Given the description of an element on the screen output the (x, y) to click on. 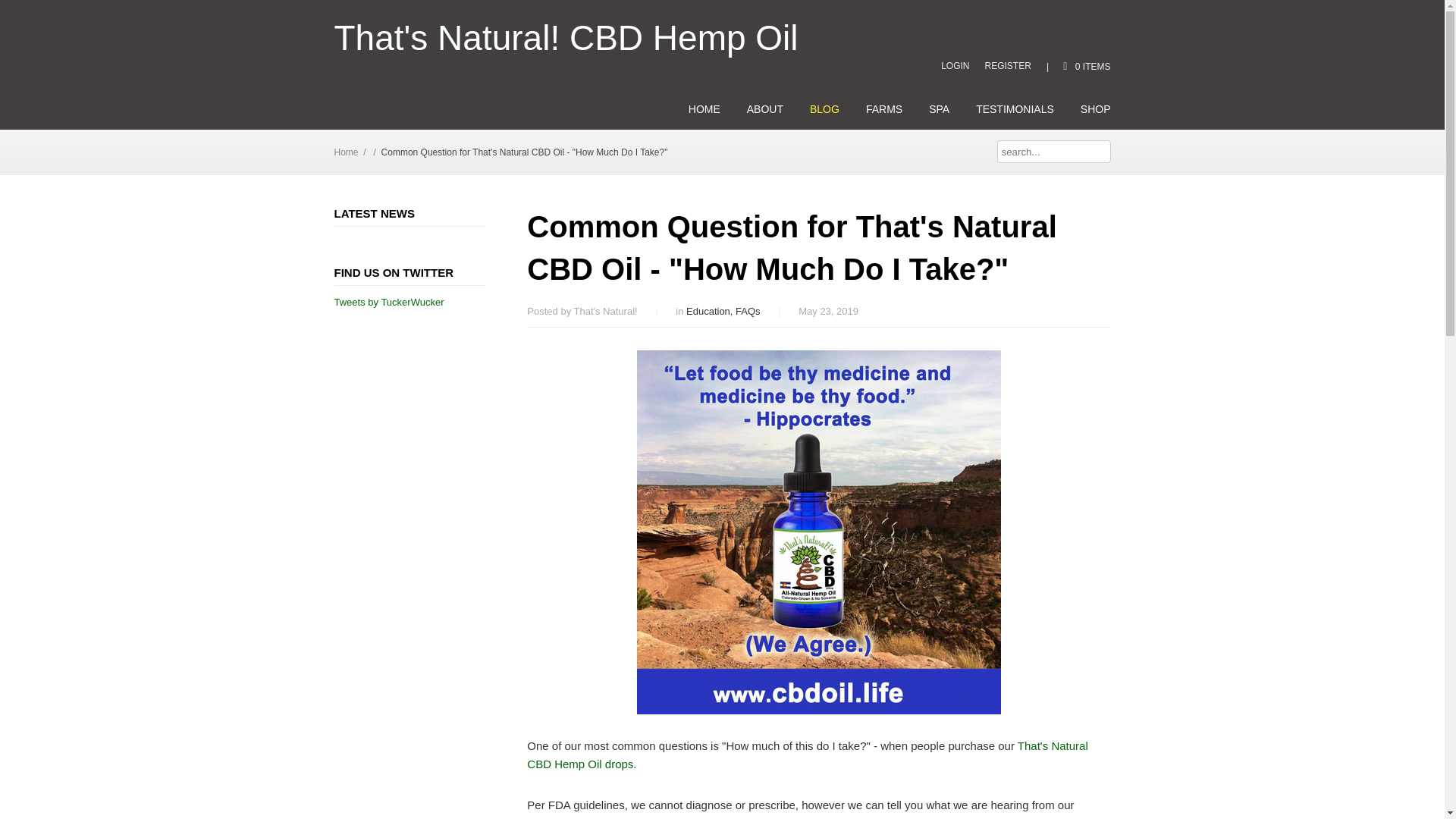
Tweets by TuckerWucker (388, 301)
HOME (704, 109)
FAQs (747, 310)
That's Natural CBD Hemp Oil drops (807, 754)
Search (1098, 151)
Education, (710, 310)
Search (1098, 151)
BLOG (824, 109)
SPA (938, 109)
LOGIN (954, 65)
Home (345, 152)
ABOUT (764, 109)
TESTIMONIALS (1014, 109)
That's Natural! CBD Hemp Oil (565, 37)
SHOP (1095, 109)
